Given the description of an element on the screen output the (x, y) to click on. 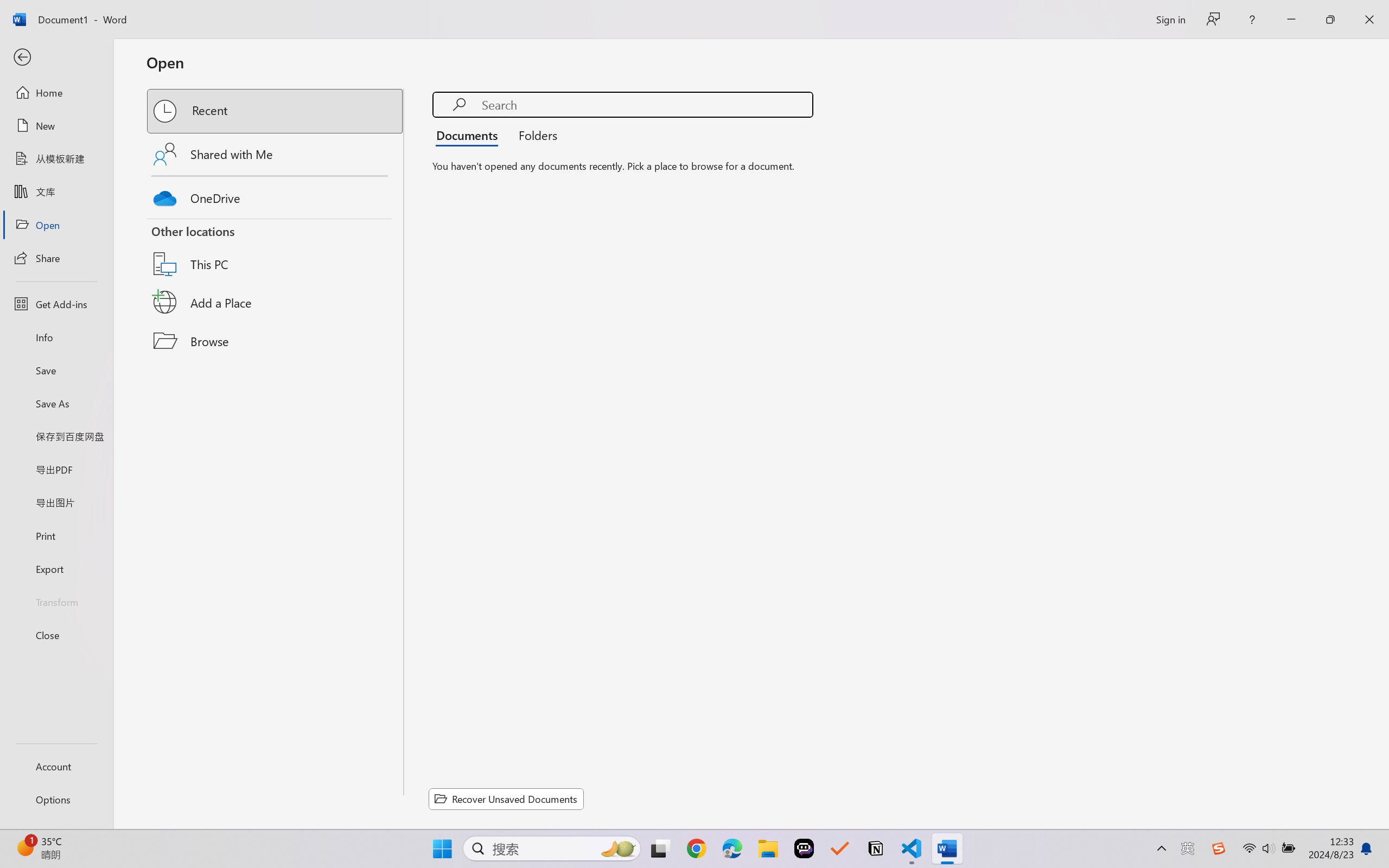
Save As (56, 403)
Print (56, 535)
Transform (56, 601)
Export (56, 568)
OneDrive (275, 195)
Info (56, 337)
Browse (275, 340)
Documents (469, 134)
